Given the description of an element on the screen output the (x, y) to click on. 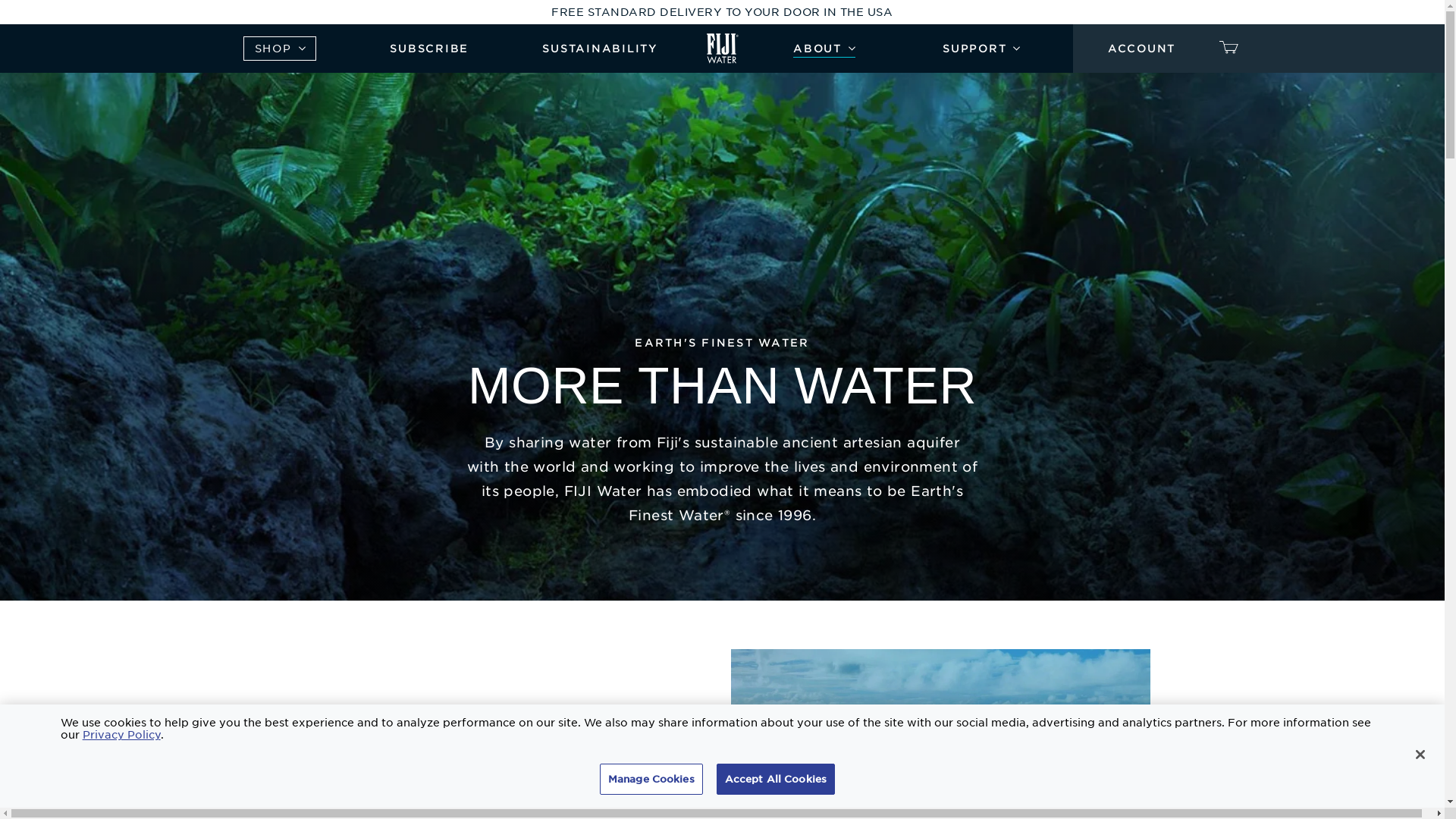
SHOP (279, 48)
SUBSCRIBE (429, 48)
SUSTAINABILITY (599, 48)
SUPPORT (981, 48)
ACCOUNT (1141, 48)
ABOUT (824, 48)
